Given the description of an element on the screen output the (x, y) to click on. 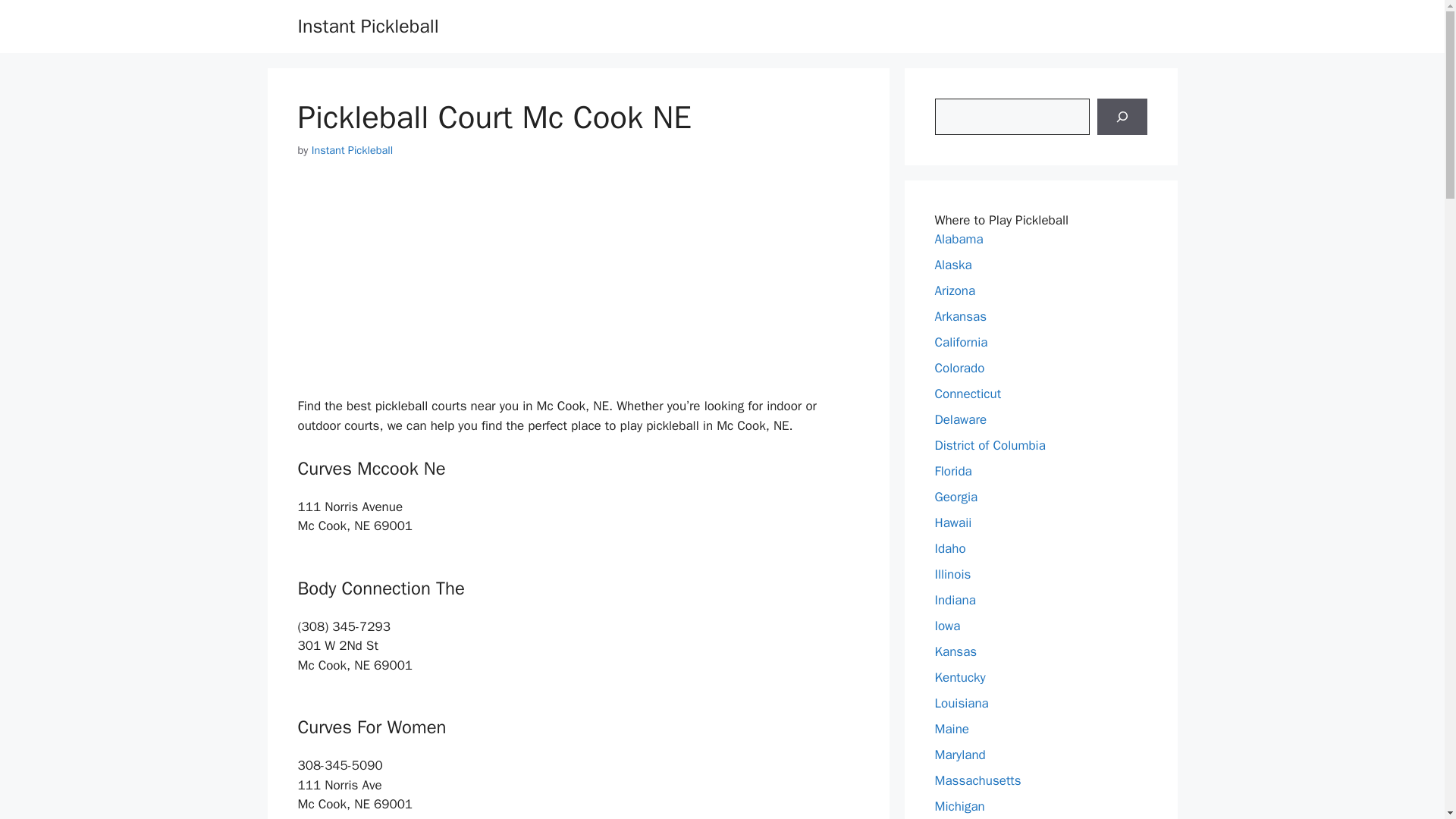
Instant Pickleball (367, 25)
Kentucky (959, 677)
Michigan (959, 806)
Louisiana (961, 703)
View all posts by Instant Pickleball (352, 150)
District of Columbia (989, 445)
Advertisement (578, 290)
Idaho (949, 548)
Instant Pickleball (352, 150)
Georgia (955, 496)
Iowa (946, 625)
Indiana (954, 600)
Maryland (959, 754)
Kansas (955, 651)
Alaska (952, 264)
